Given the description of an element on the screen output the (x, y) to click on. 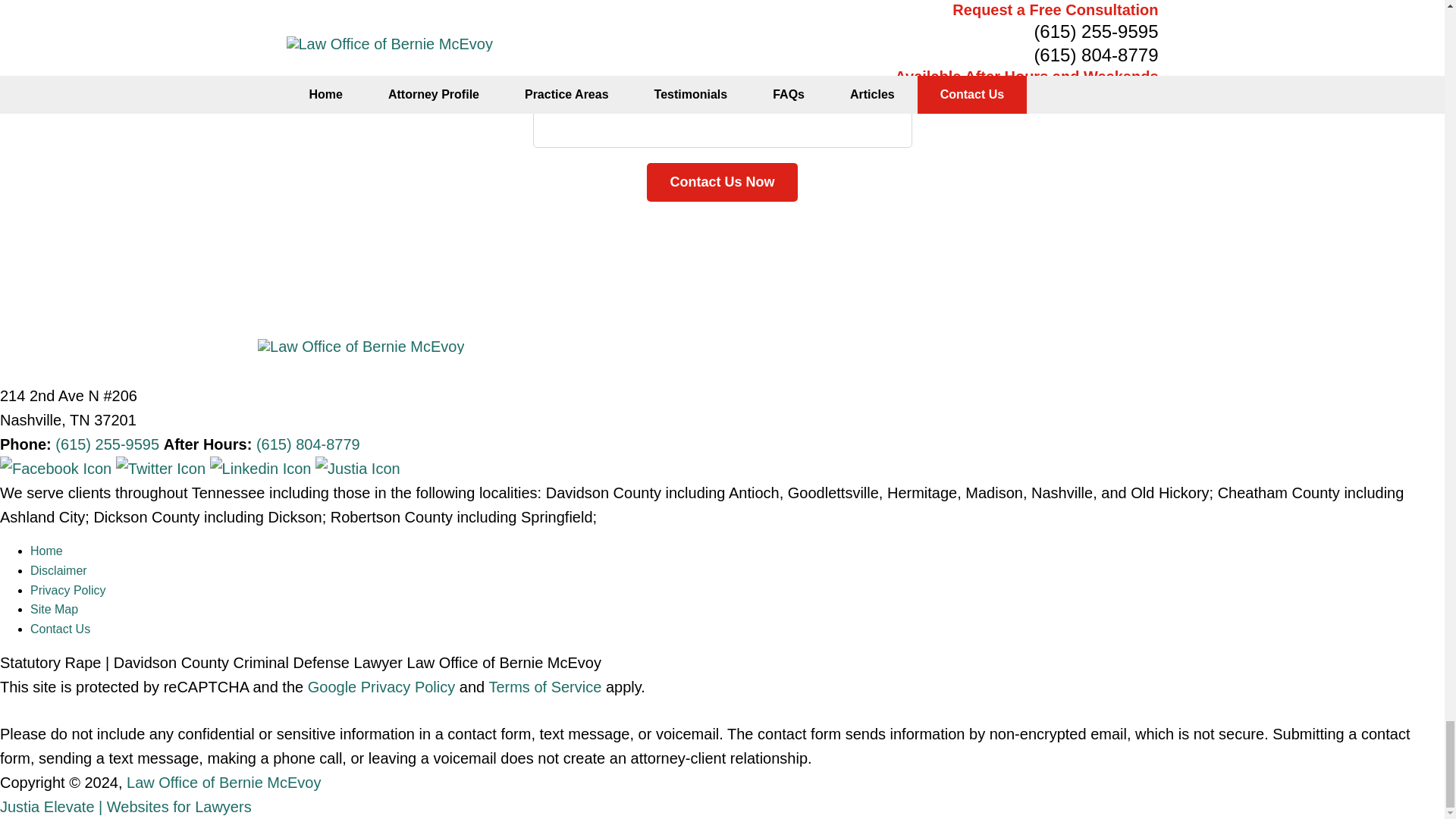
Twitter (162, 468)
Linkedin (262, 468)
Justia (357, 468)
Facebook (58, 468)
